Given the description of an element on the screen output the (x, y) to click on. 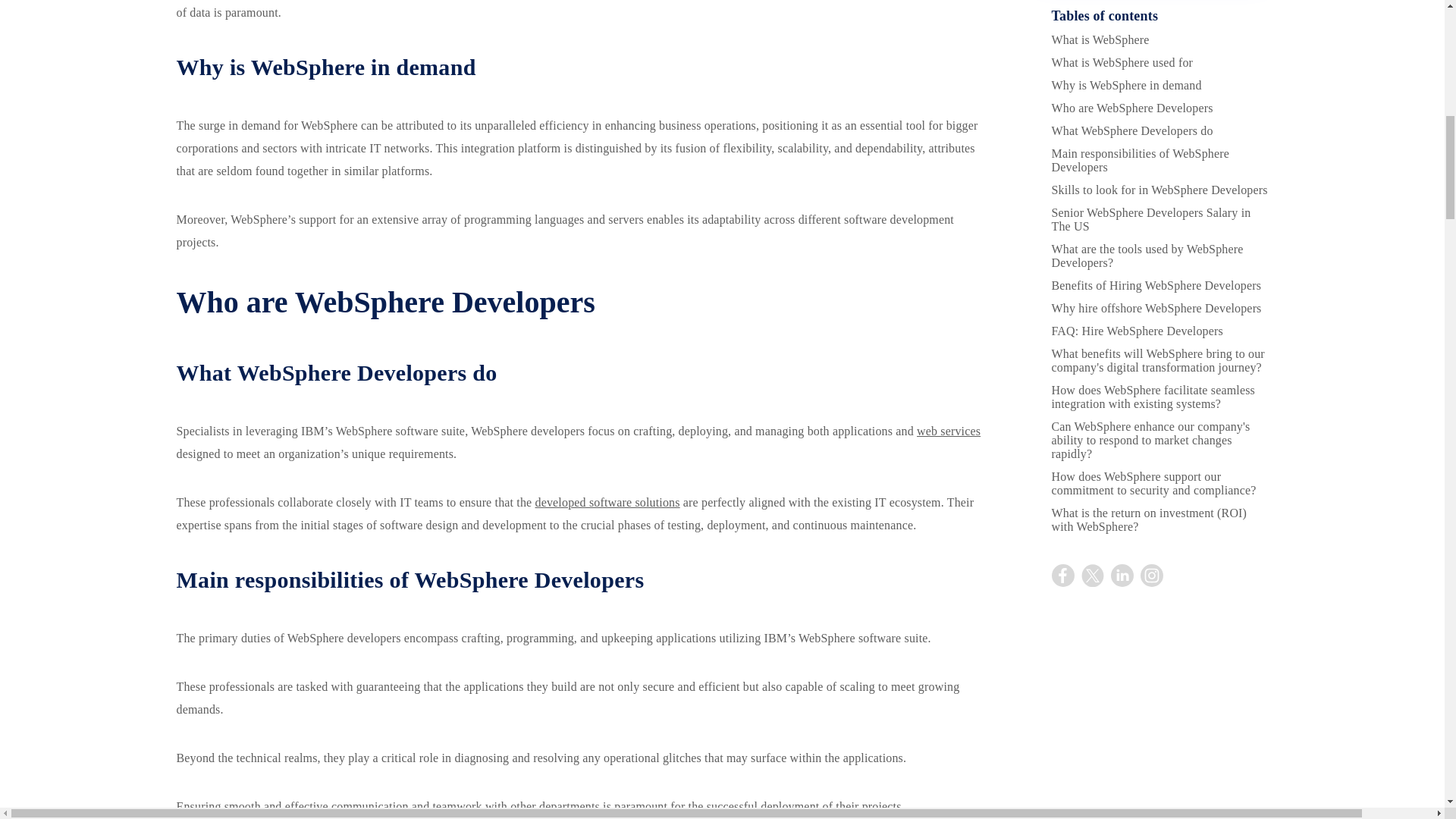
Main responsibilities of WebSphere Developers (1139, 160)
FAQ: Hire WebSphere Developers (1137, 330)
Why is WebSphere in demand (1126, 84)
What is WebSphere used for (1121, 62)
Who are WebSphere Developers (1131, 107)
What WebSphere Developers do (1131, 130)
What are the tools used by WebSphere Developers? (1147, 255)
Skills to look for in WebSphere Developers (1158, 189)
developed software solutions (607, 502)
web services (948, 431)
Senior WebSphere Developers Salary in The US (1150, 219)
What is WebSphere (1099, 39)
